Given the description of an element on the screen output the (x, y) to click on. 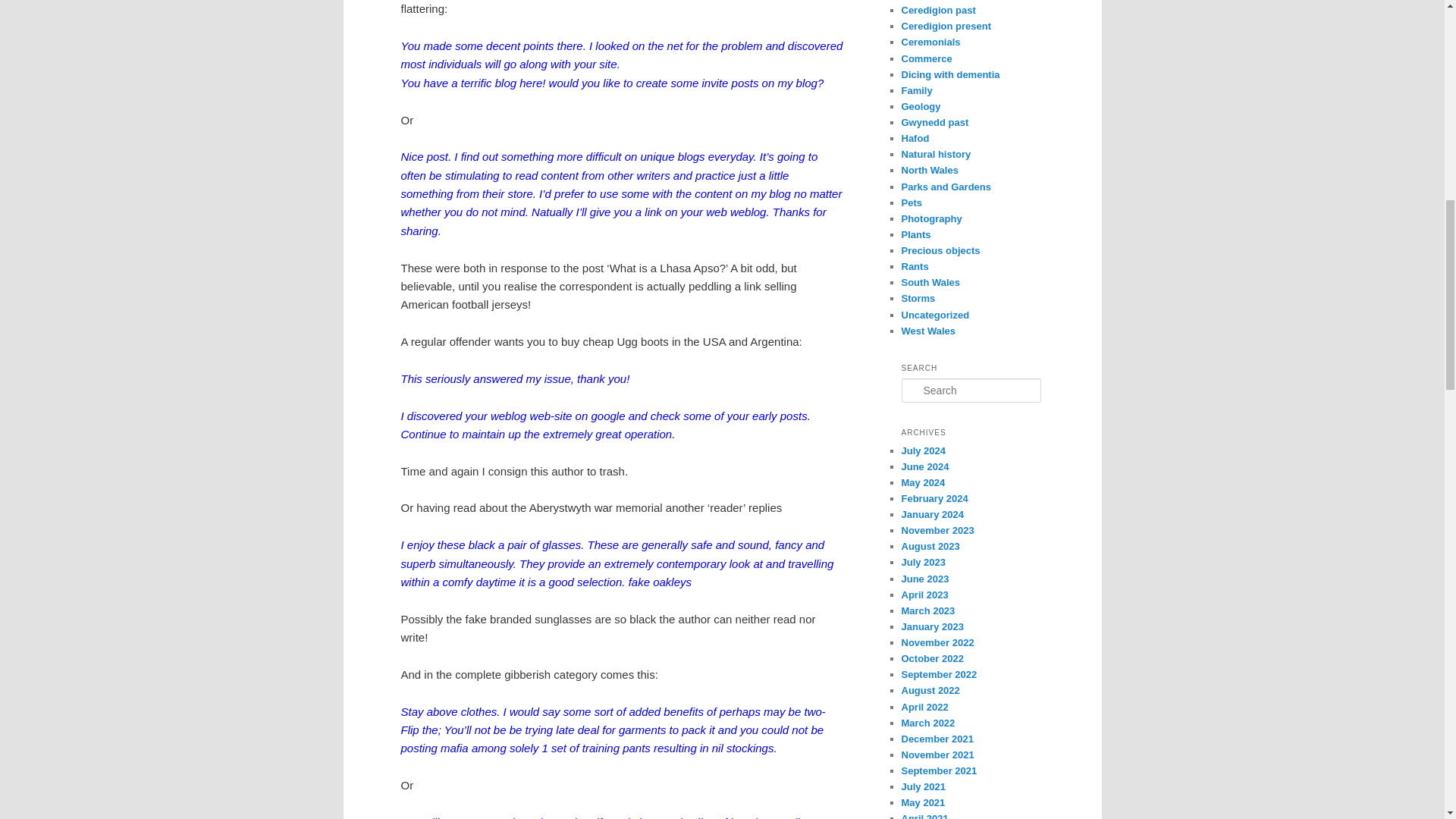
Ceremonials (930, 41)
Ceredigion present (945, 25)
Email Address (1348, 162)
Dicing with dementia (949, 74)
Commerce (926, 58)
Ceredigion past (938, 9)
Sign me up! (1320, 192)
